Given the description of an element on the screen output the (x, y) to click on. 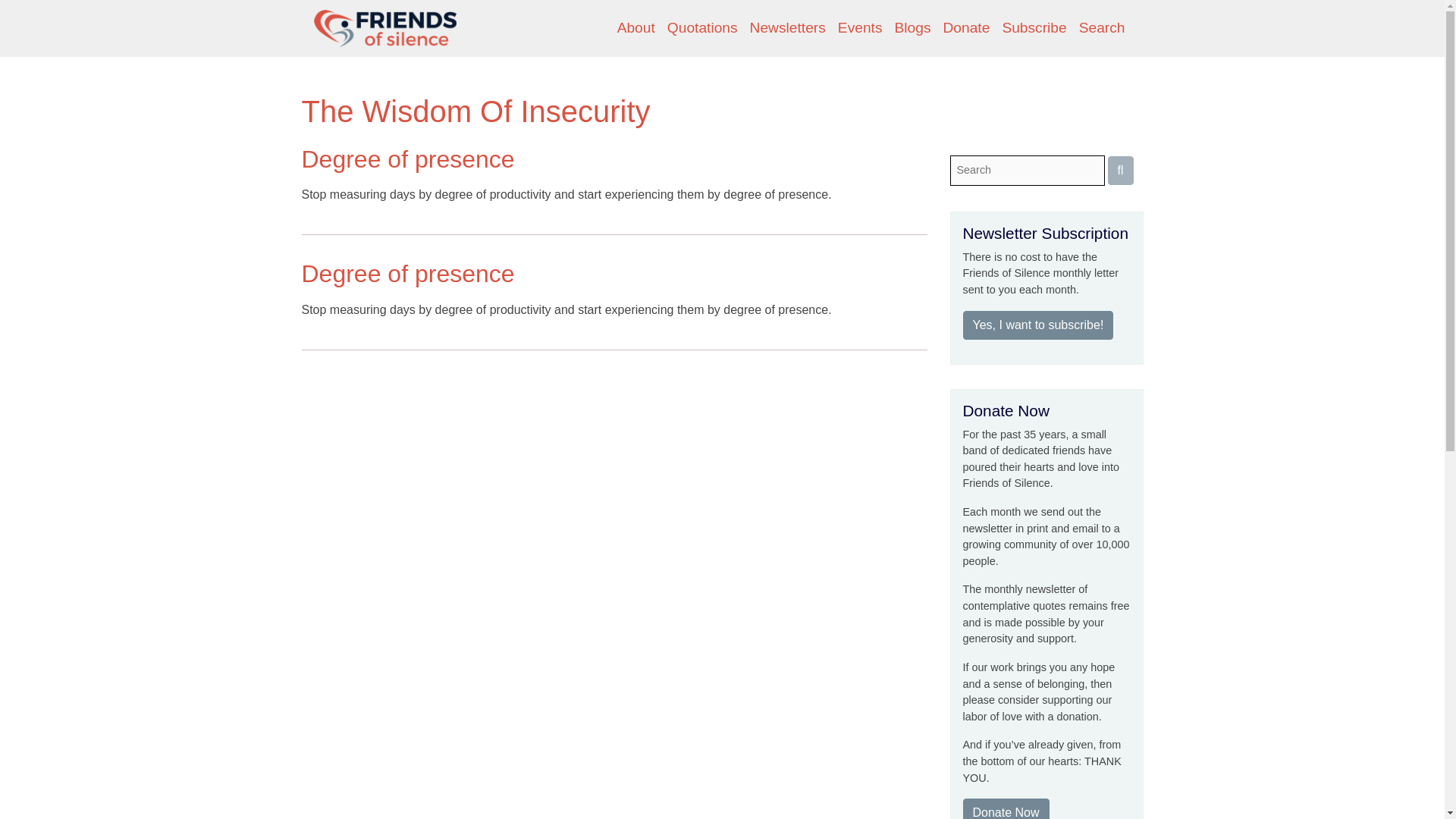
Search (1102, 28)
Quotations (702, 28)
Subscribe (1033, 28)
Degree of presence (408, 273)
Newsletters (787, 28)
Blogs (912, 28)
Donate (966, 28)
Events (859, 28)
About (636, 28)
